Given the description of an element on the screen output the (x, y) to click on. 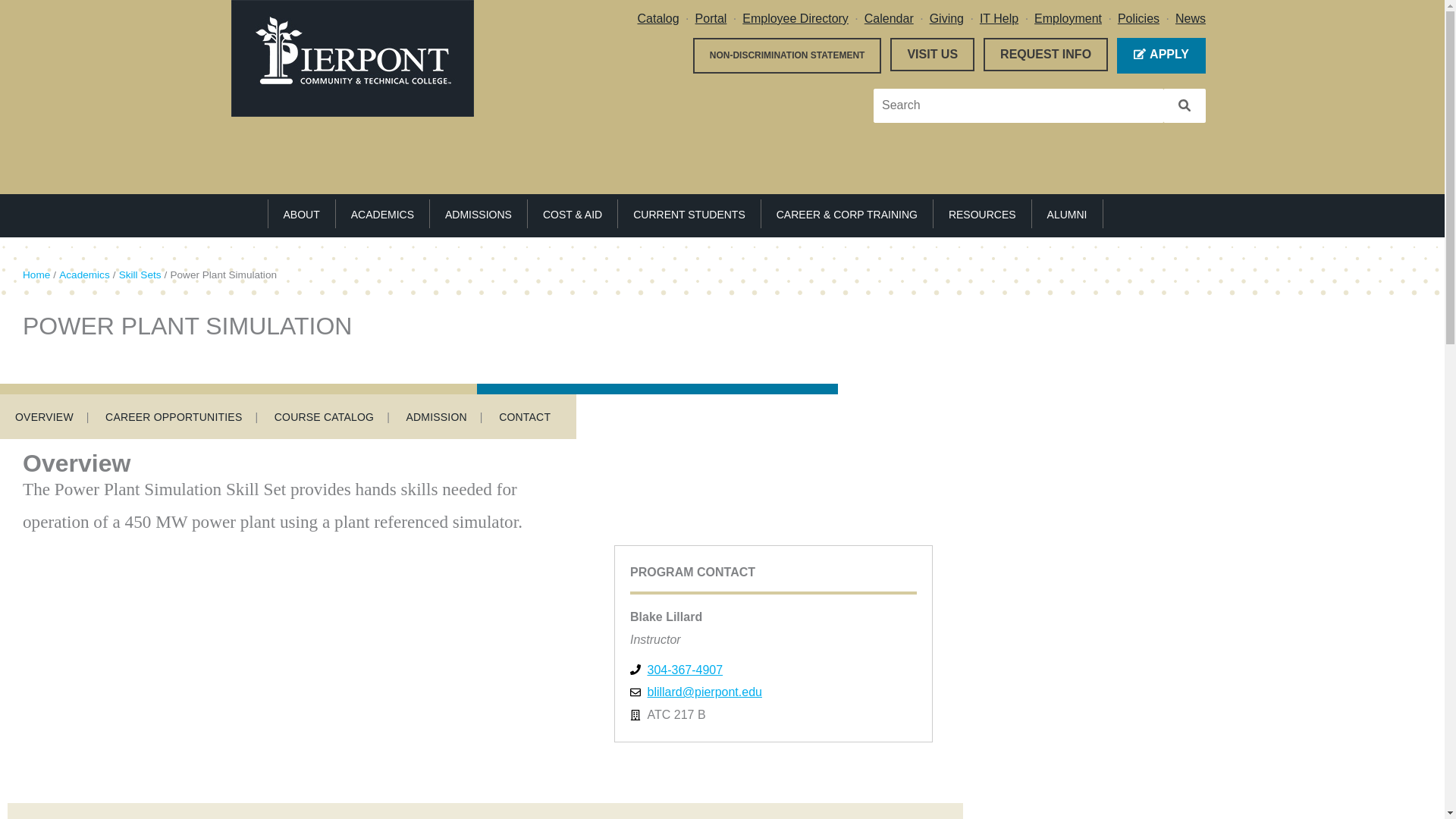
News (1189, 18)
VISIT US (931, 54)
Employment (1067, 18)
Calendar (889, 18)
ACADEMICS (381, 213)
ABOUT (300, 213)
Employee Directory (795, 18)
APPLY (1160, 54)
Giving (946, 18)
Search (1184, 105)
